Given the description of an element on the screen output the (x, y) to click on. 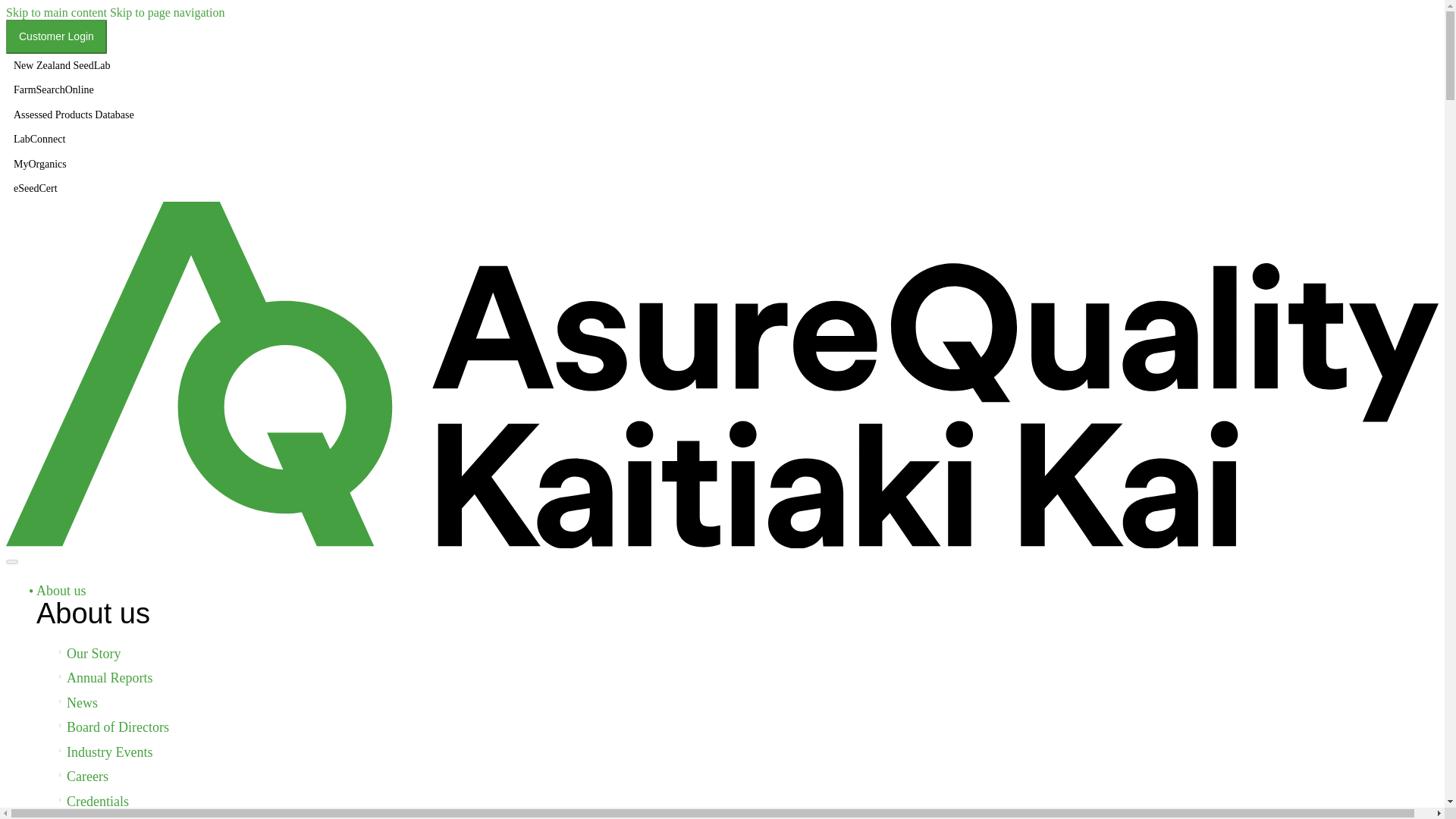
Open mobile menu (11, 561)
Credentials (97, 801)
About us (92, 613)
Customer Login (55, 36)
eSeedCert (74, 188)
Board of Directors (117, 726)
News (81, 702)
Assessed Products Database (74, 115)
Careers (86, 776)
MyOrganics (74, 163)
FarmSearchOnline (74, 90)
Industry Events (109, 752)
Login to FarmSearchOnline (74, 90)
